Given the description of an element on the screen output the (x, y) to click on. 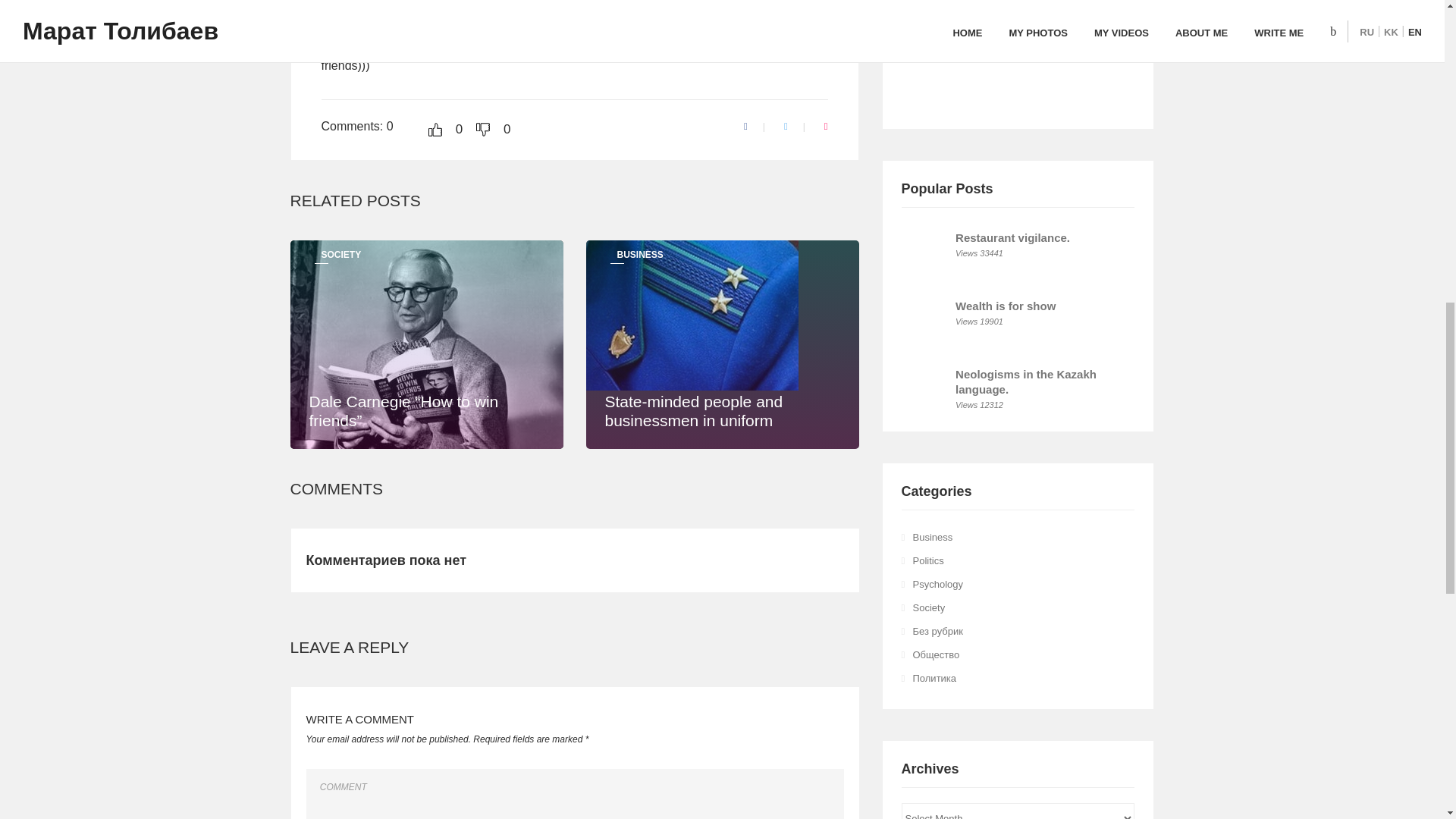
SOCIETY (341, 254)
Restaurant vigilance. (1012, 237)
Society (928, 607)
Politics (927, 560)
State-minded people and businessmen in uniform (722, 410)
Business (932, 536)
Psychology (937, 583)
BUSINESS (640, 254)
Wealth is for show (1005, 305)
Neologisms in the Kazakh language. (1025, 381)
